Given the description of an element on the screen output the (x, y) to click on. 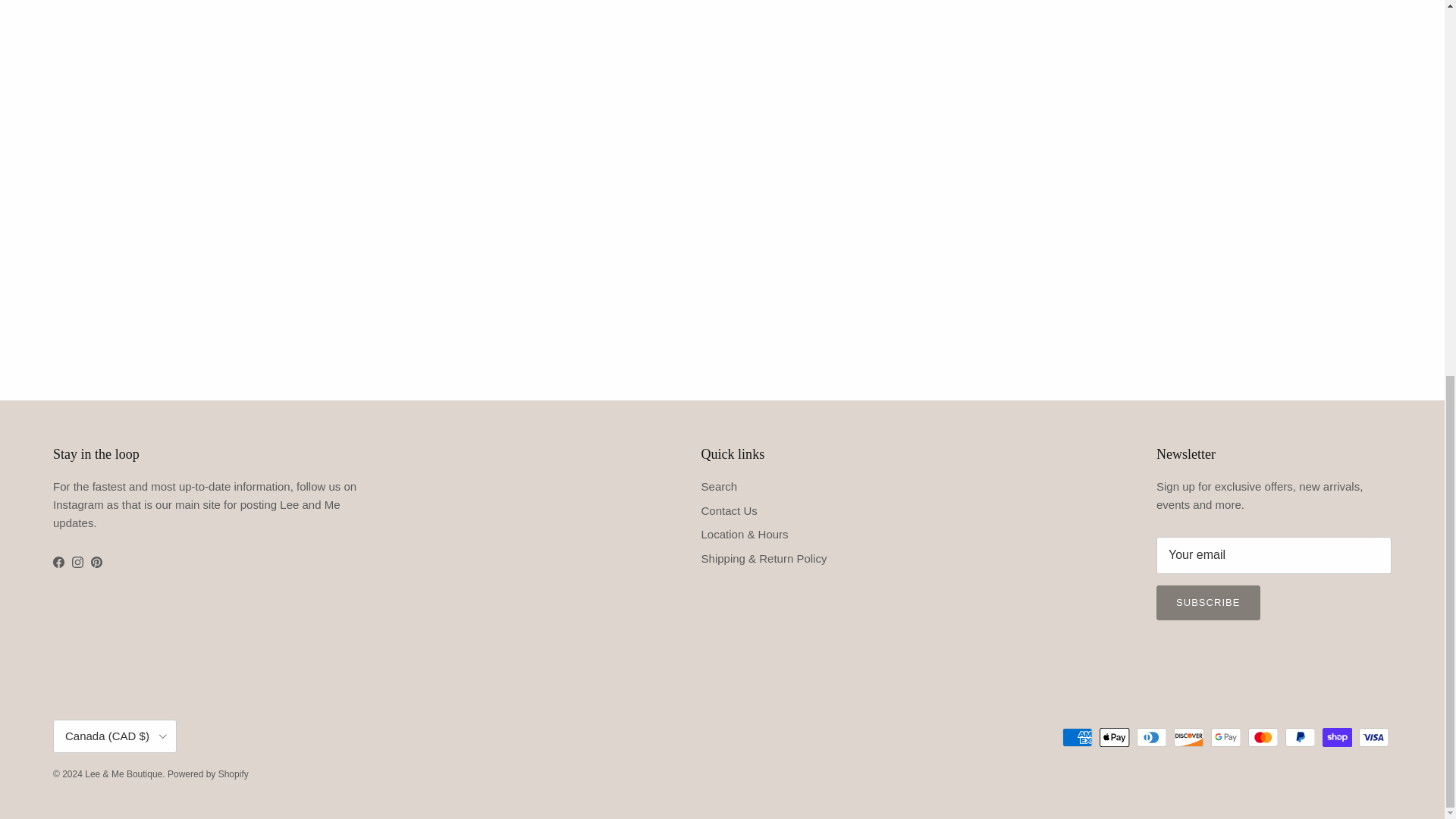
Diners Club (1151, 737)
Apple Pay (1114, 737)
Google Pay (1225, 737)
Visa (1373, 737)
Mastercard (1262, 737)
American Express (1077, 737)
Discover (1188, 737)
PayPal (1299, 737)
Shop Pay (1337, 737)
